Given the description of an element on the screen output the (x, y) to click on. 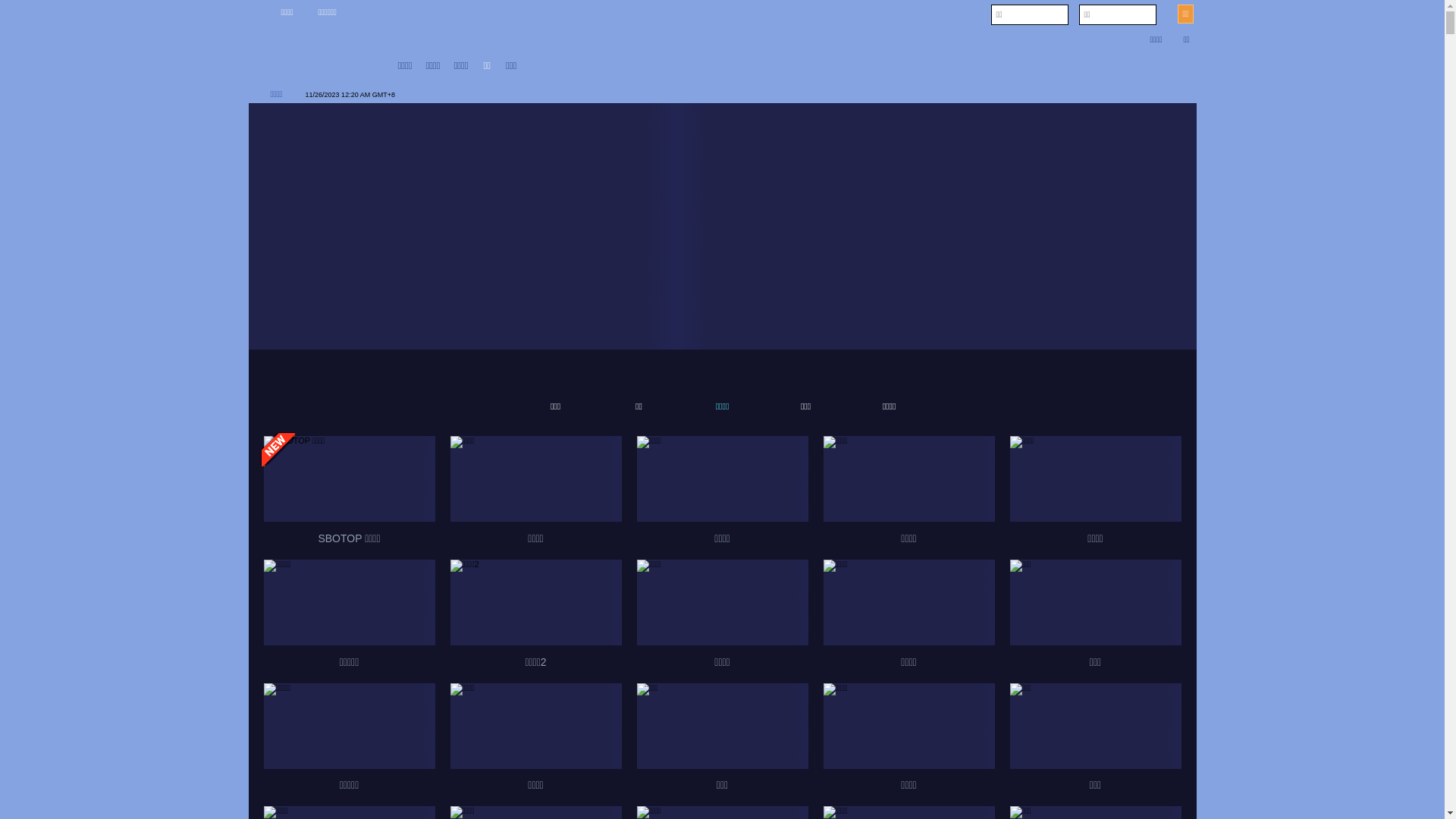
Home Element type: text (377, 65)
+ Element type: text (389, 94)
